Given the description of an element on the screen output the (x, y) to click on. 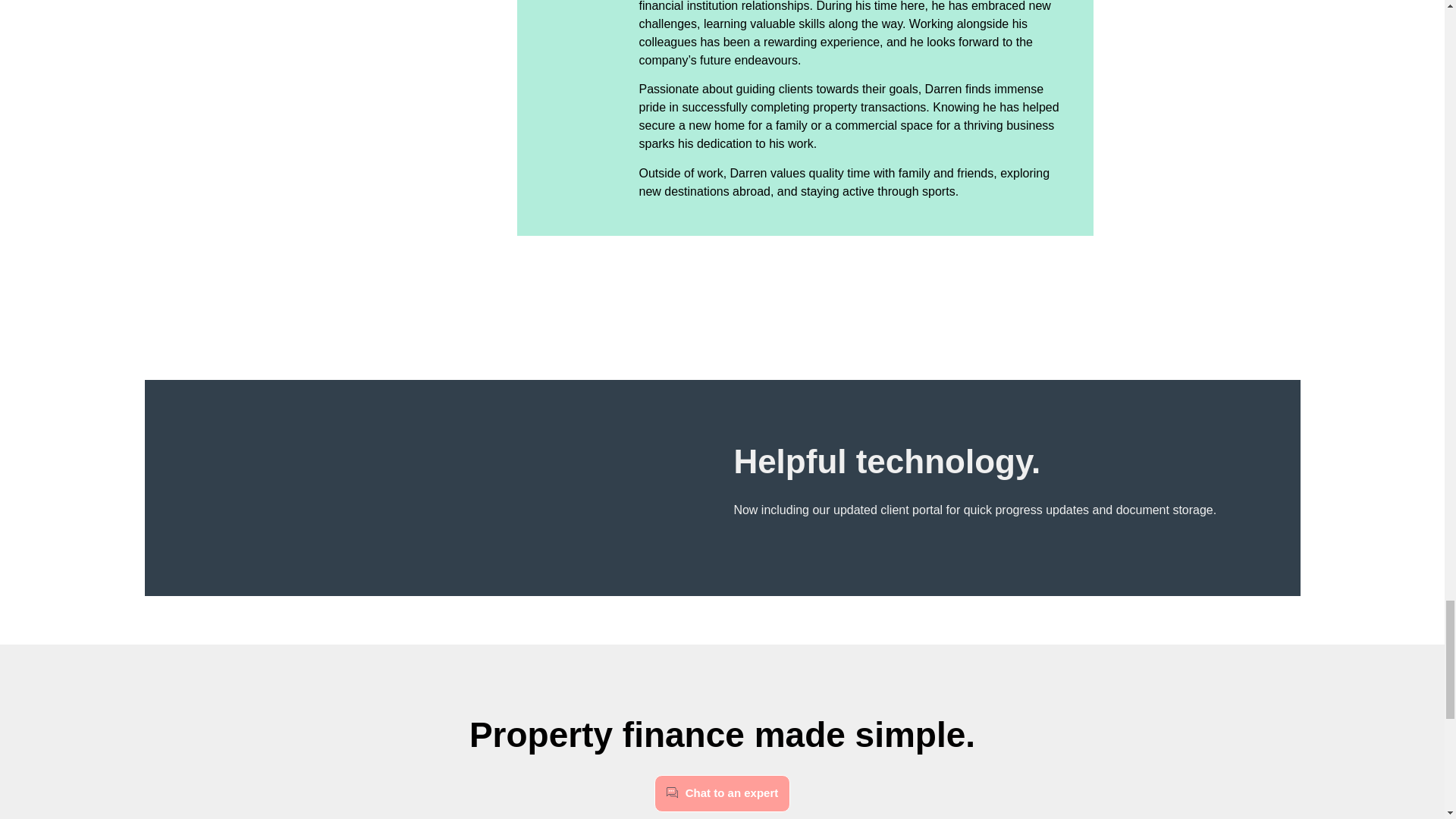
Chat to an expert (721, 793)
